Given the description of an element on the screen output the (x, y) to click on. 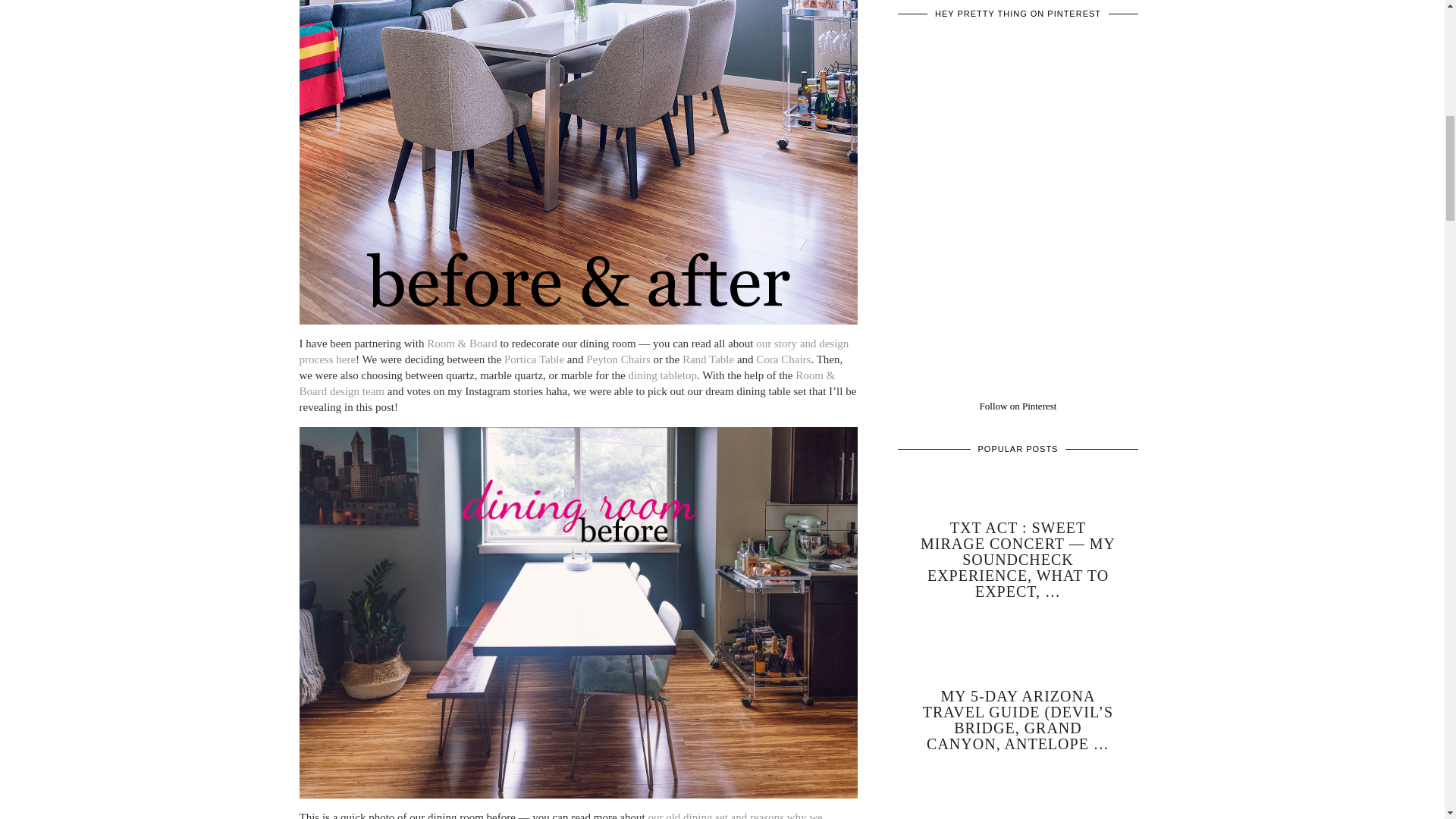
our story and design process here (573, 351)
Portica Table (533, 358)
